Given the description of an element on the screen output the (x, y) to click on. 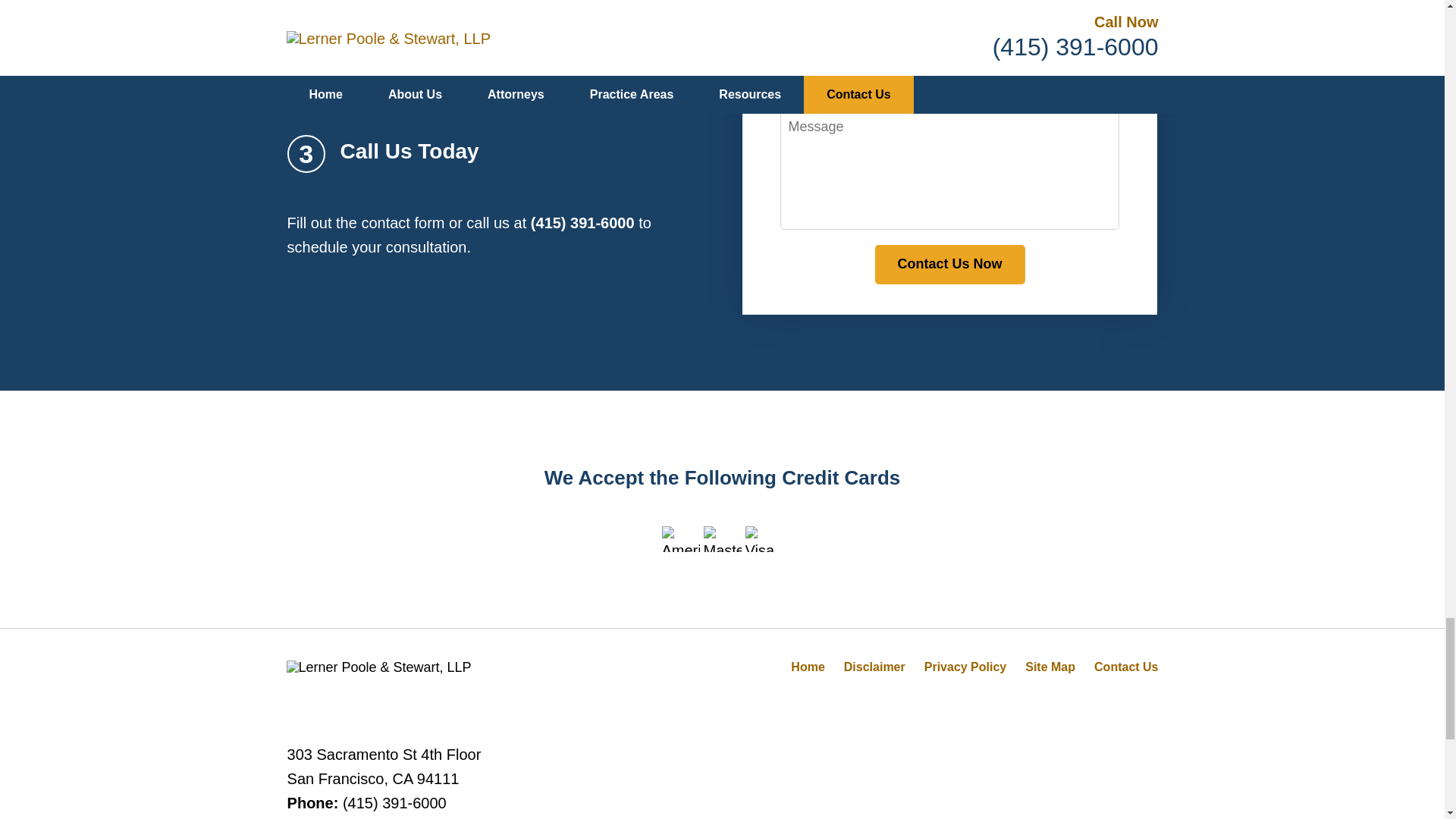
Home (807, 666)
Contact Us Now (950, 264)
